Given the description of an element on the screen output the (x, y) to click on. 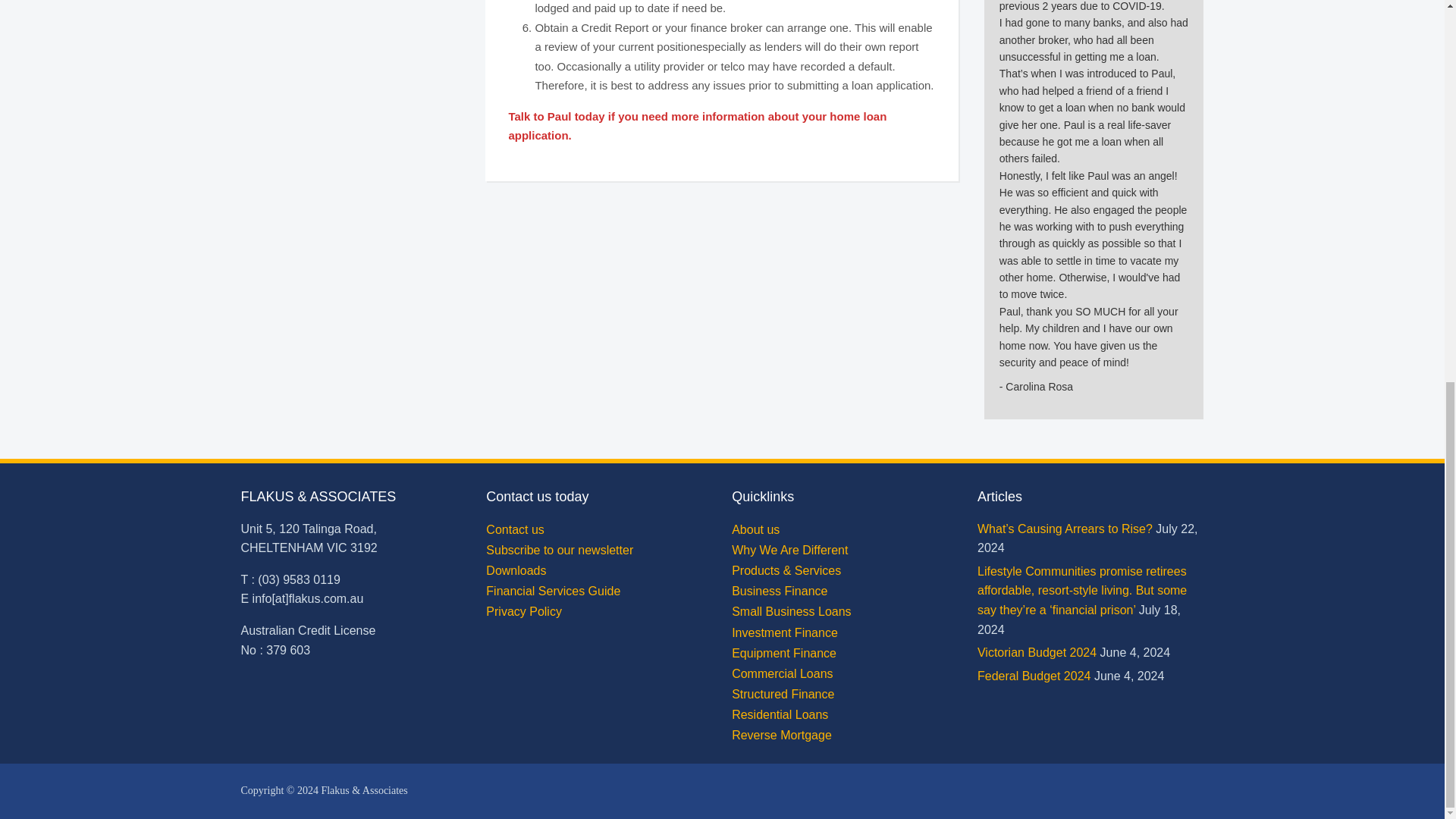
Downloads (516, 570)
About us (755, 529)
Contact us (514, 529)
Subscribe to our newsletter (559, 549)
Financial Services Guide (553, 590)
Privacy Policy (524, 611)
